Given the description of an element on the screen output the (x, y) to click on. 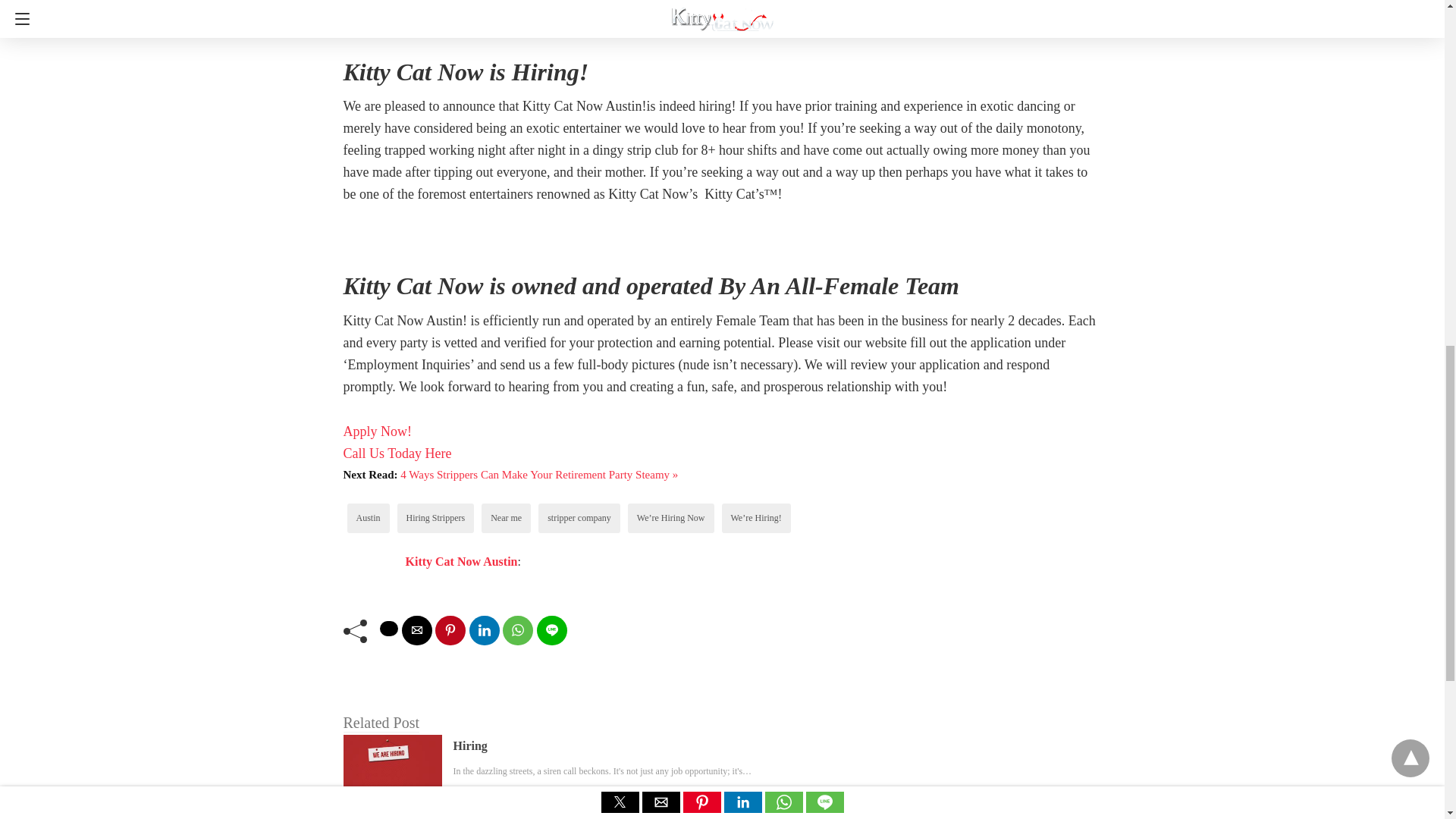
New Year, New You! (504, 817)
twitter share (388, 627)
whatsapp share (517, 630)
Kitty Cat Now Austin (460, 561)
Hiring (469, 744)
pinterest share (450, 630)
New Year, New You! (504, 817)
line share (552, 630)
Apply Now! (377, 430)
mailto (416, 630)
stripper company (579, 517)
Near me (505, 517)
Austin (368, 517)
Hiring Strippers (435, 517)
Hiring (469, 744)
